Given the description of an element on the screen output the (x, y) to click on. 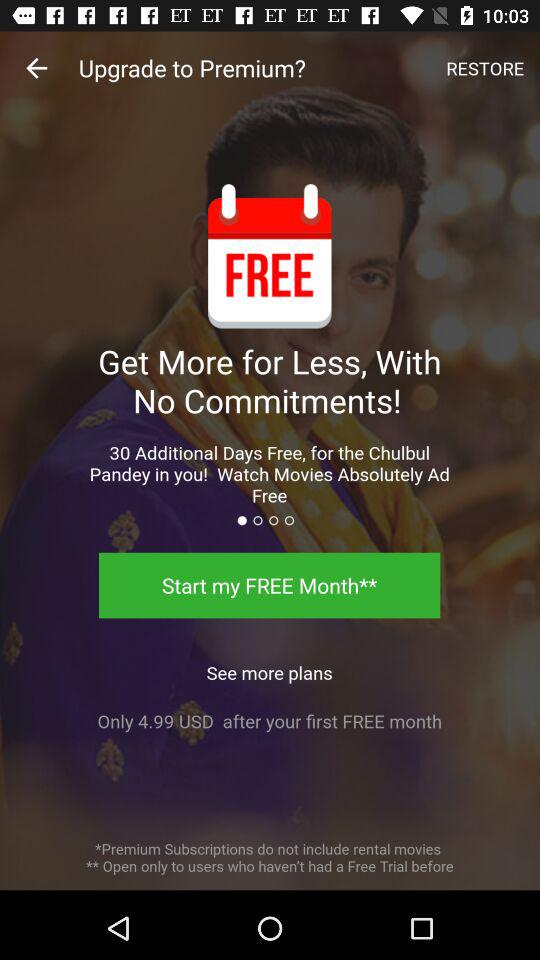
turn on the start my free icon (269, 585)
